Given the description of an element on the screen output the (x, y) to click on. 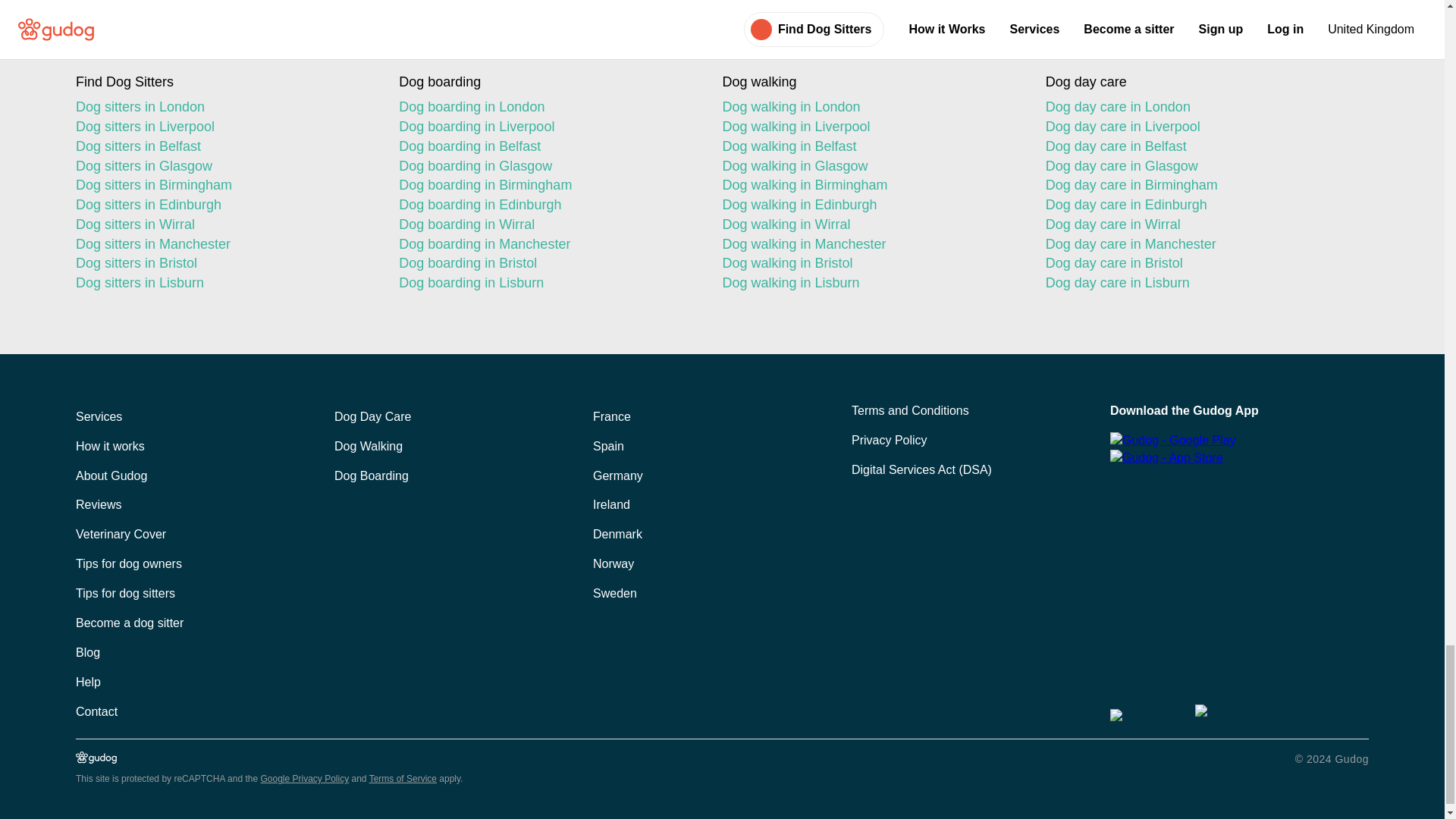
Dog sitters in Manchester (224, 244)
Dog sitters in Belfast (224, 147)
Dog sitters in Lisburn (224, 283)
Dog sitters in London (224, 107)
Dog sitters in Liverpool (224, 127)
Dog sitters in London (224, 107)
Dog boarding in London (547, 107)
Dog sitters in Edinburgh (224, 205)
Dog sitters in Wirral (224, 225)
Dog sitters in Bristol (224, 263)
